Given the description of an element on the screen output the (x, y) to click on. 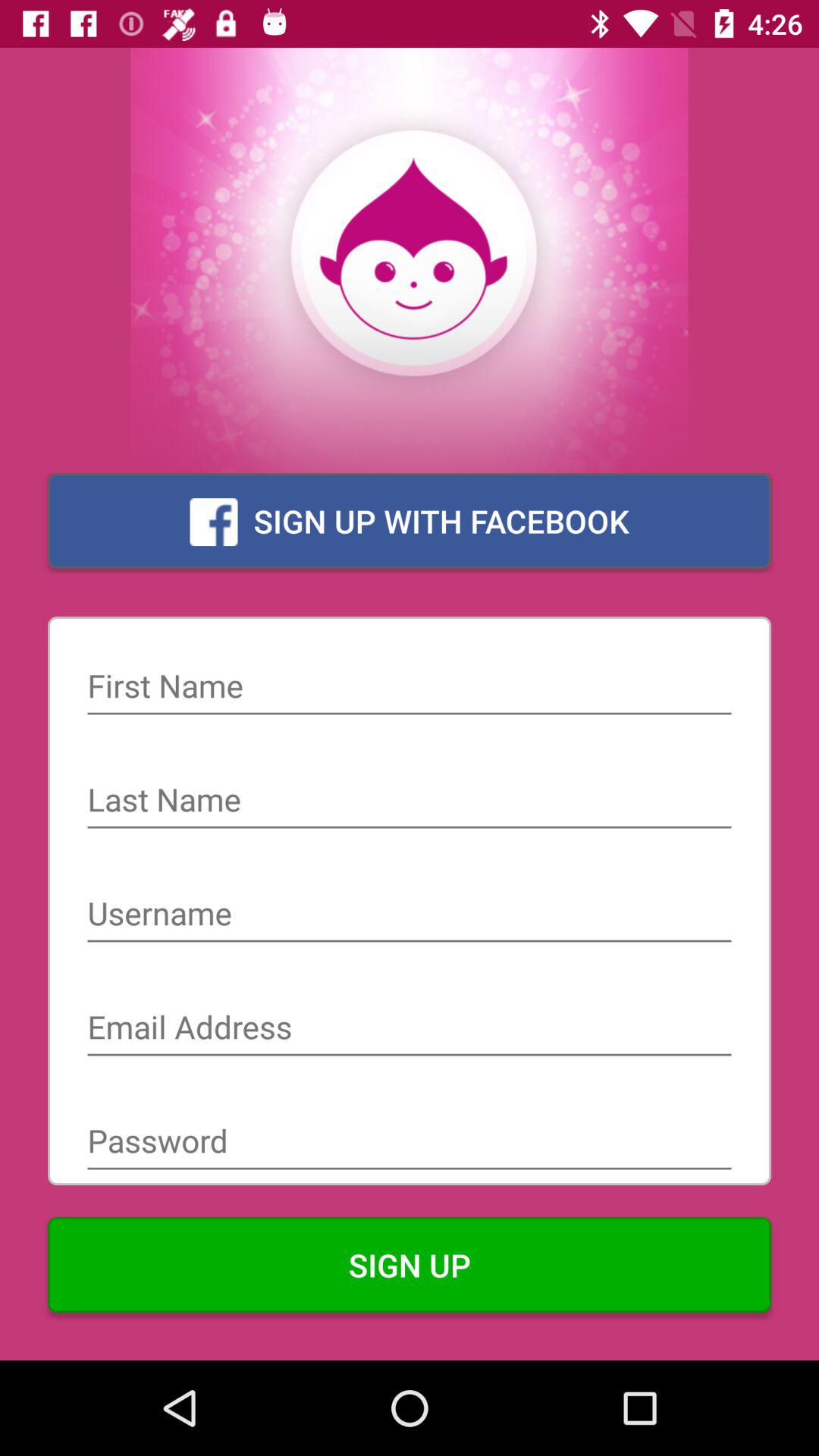
go to password (409, 1142)
